Given the description of an element on the screen output the (x, y) to click on. 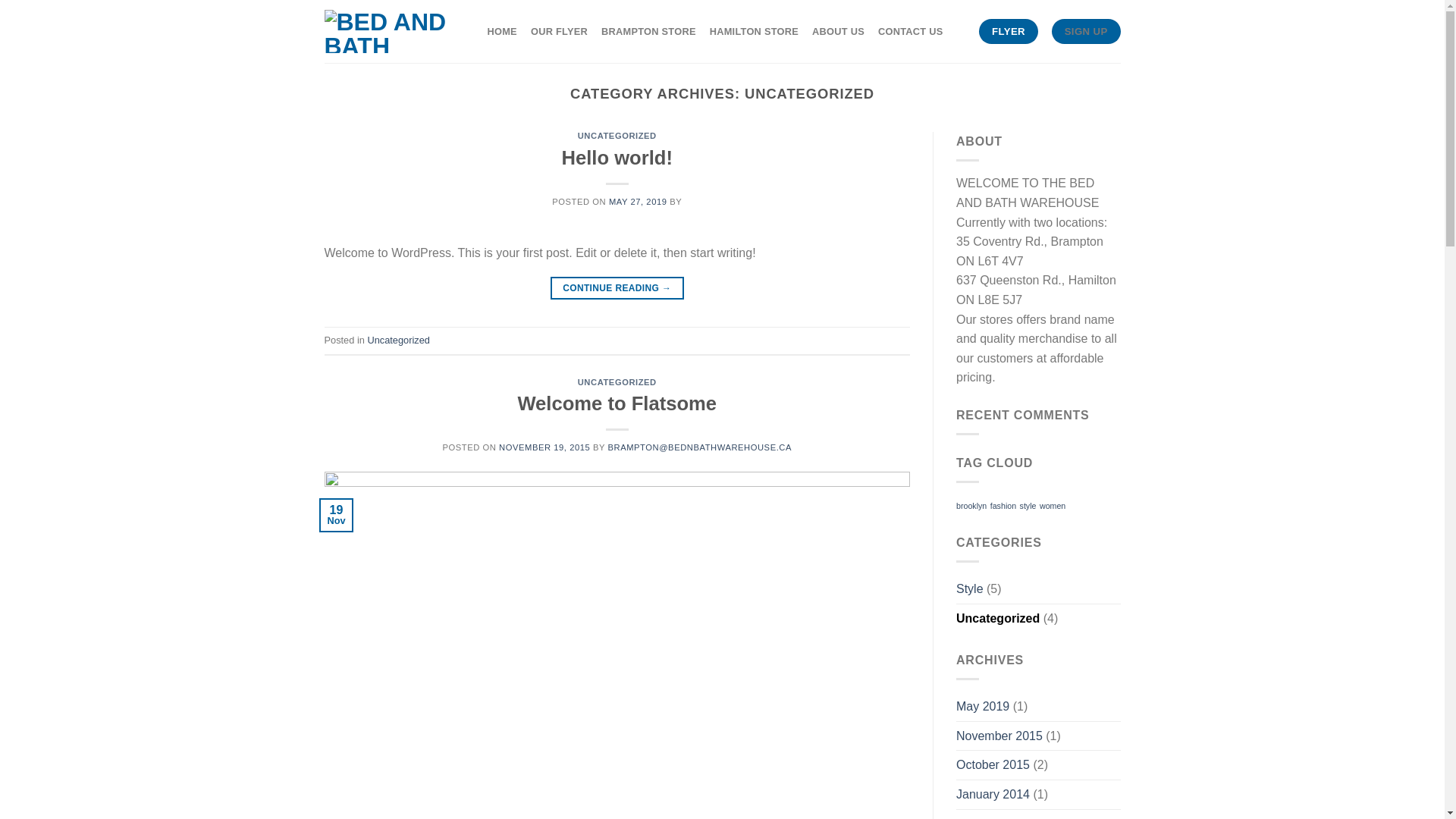
January 2014 Element type: text (992, 794)
November 2015 Element type: text (999, 735)
MAY 27, 2019 Element type: text (637, 201)
UNCATEGORIZED Element type: text (616, 381)
HAMILTON STORE Element type: text (753, 31)
NOVEMBER 19, 2015 Element type: text (543, 446)
ABOUT US Element type: text (838, 31)
Uncategorized Element type: text (398, 339)
CONTACT US Element type: text (910, 31)
UNCATEGORIZED Element type: text (616, 135)
Uncategorized Element type: text (997, 618)
BRAMPTON STORE Element type: text (648, 31)
SIGN UP Element type: text (1085, 31)
October 2015 Element type: text (992, 764)
Welcome to Flatsome Element type: text (616, 403)
HOME Element type: text (501, 31)
fashion Element type: text (1003, 505)
brooklyn Element type: text (971, 505)
BRAMPTON@BEDNBATHWAREHOUSE.CA Element type: text (699, 446)
style Element type: text (1027, 505)
women Element type: text (1052, 505)
Hello world! Element type: text (616, 157)
FLYER Element type: text (1008, 31)
May 2019 Element type: text (982, 706)
Style Element type: text (969, 588)
OUR FLYER Element type: text (558, 31)
Bed and Bath Warehouse Element type: hover (391, 30)
